Given the description of an element on the screen output the (x, y) to click on. 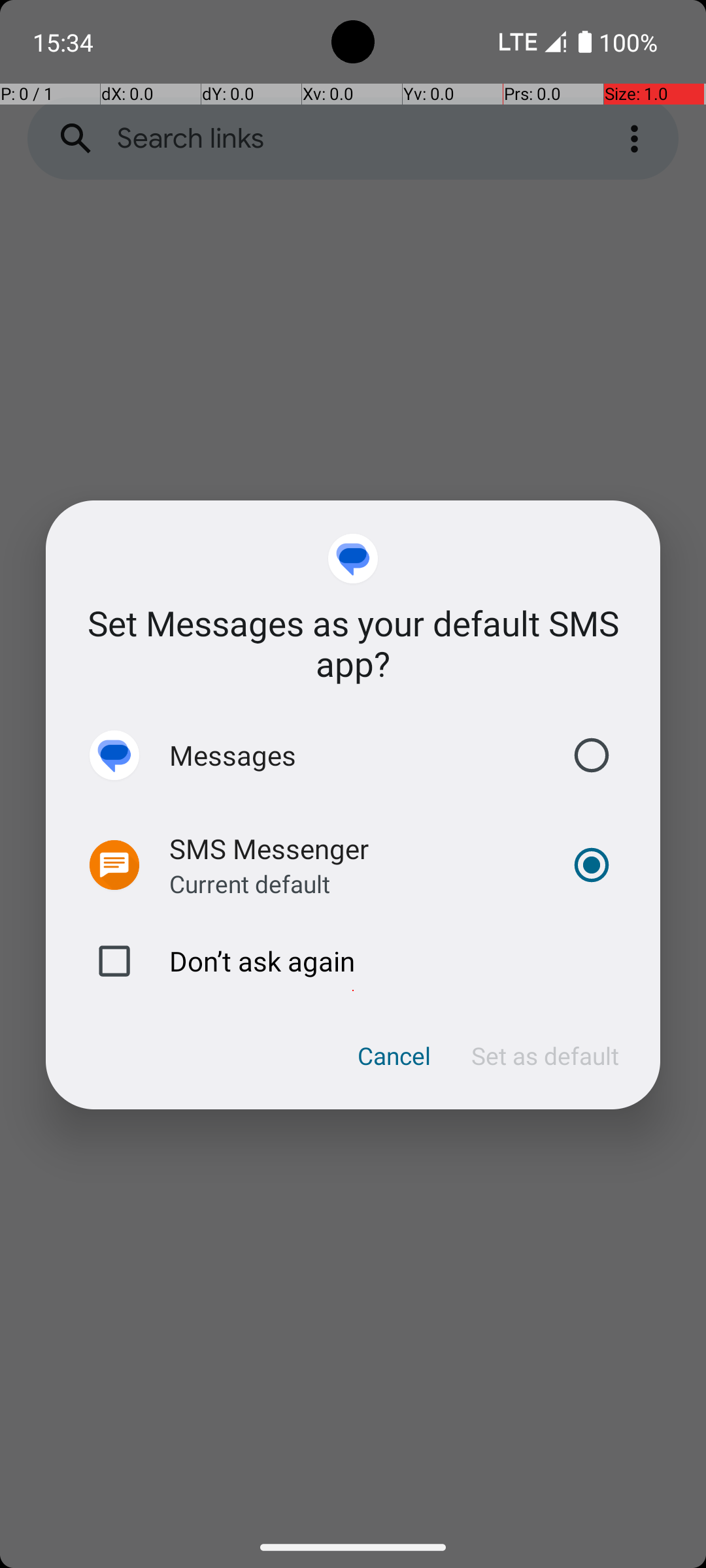
Set Messages as your default SMS app? Element type: android.widget.TextView (352, 642)
Don’t ask again Element type: android.widget.CheckBox (352, 960)
Set as default Element type: android.widget.Button (545, 1055)
Current default Element type: android.widget.TextView (249, 883)
